Given the description of an element on the screen output the (x, y) to click on. 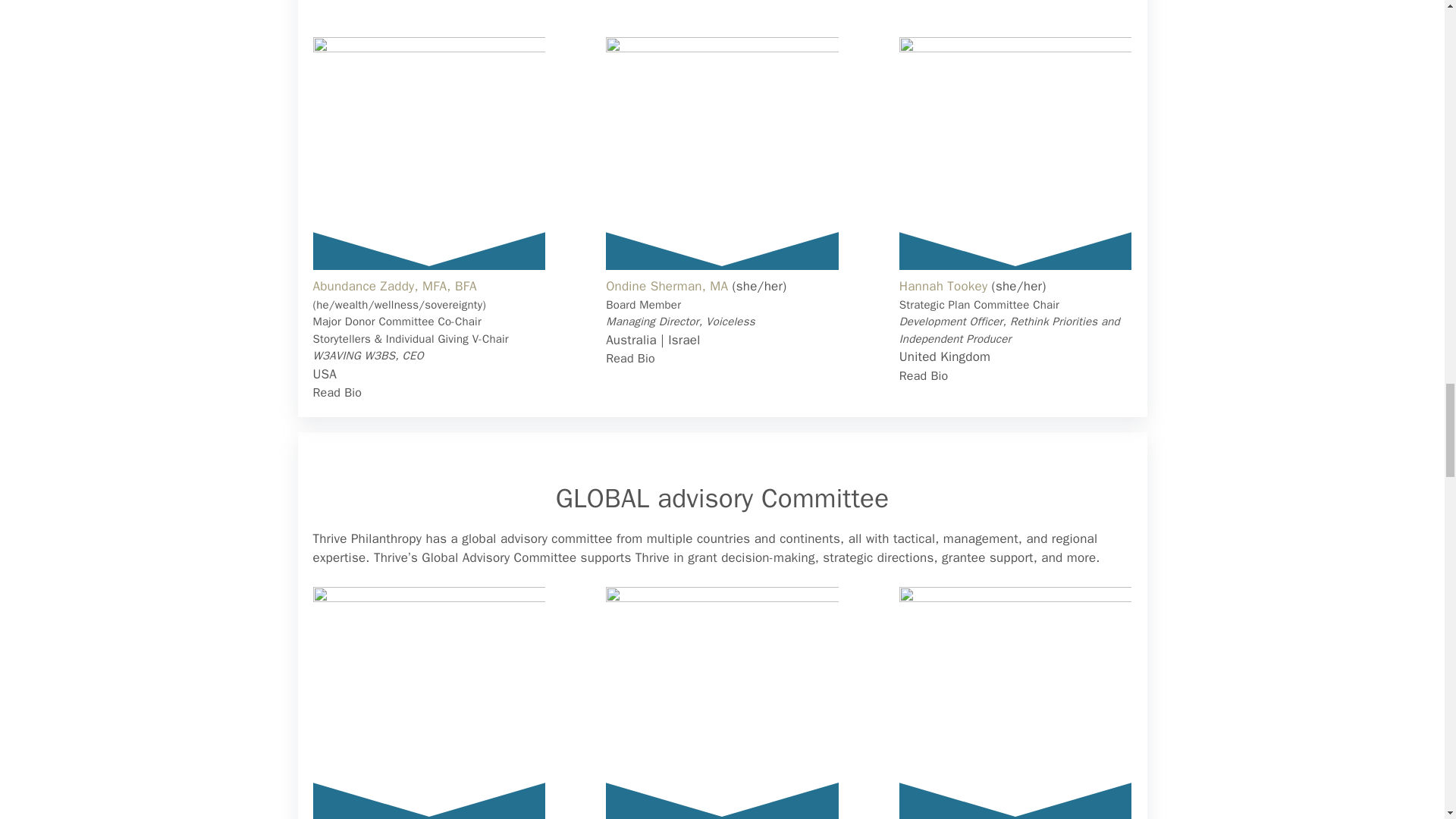
Meghan (1015, 703)
Zehra (428, 703)
